Given the description of an element on the screen output the (x, y) to click on. 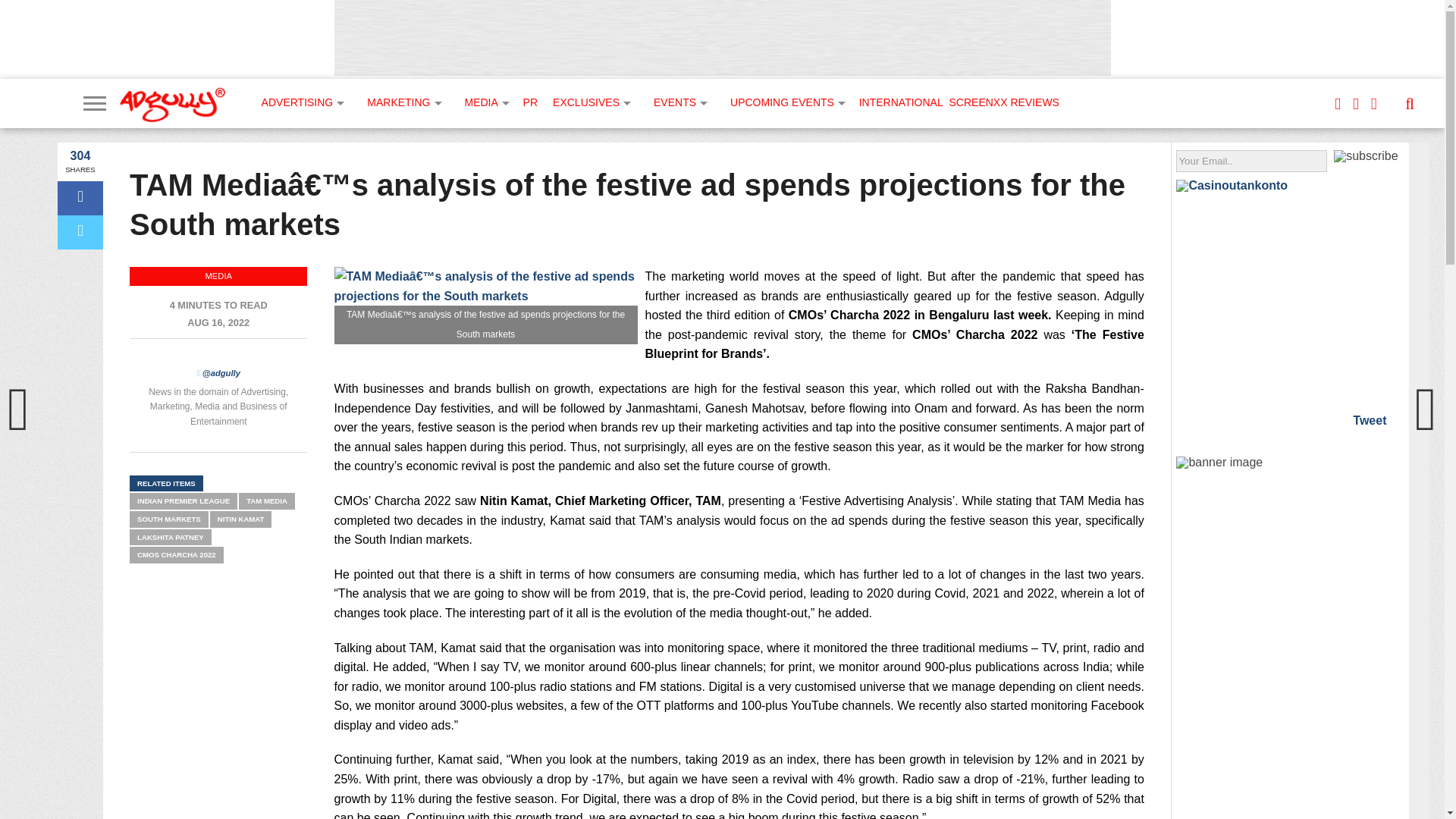
Your Email.. (1251, 160)
Tweet This Post (80, 232)
Share on Facebook (80, 197)
